Given the description of an element on the screen output the (x, y) to click on. 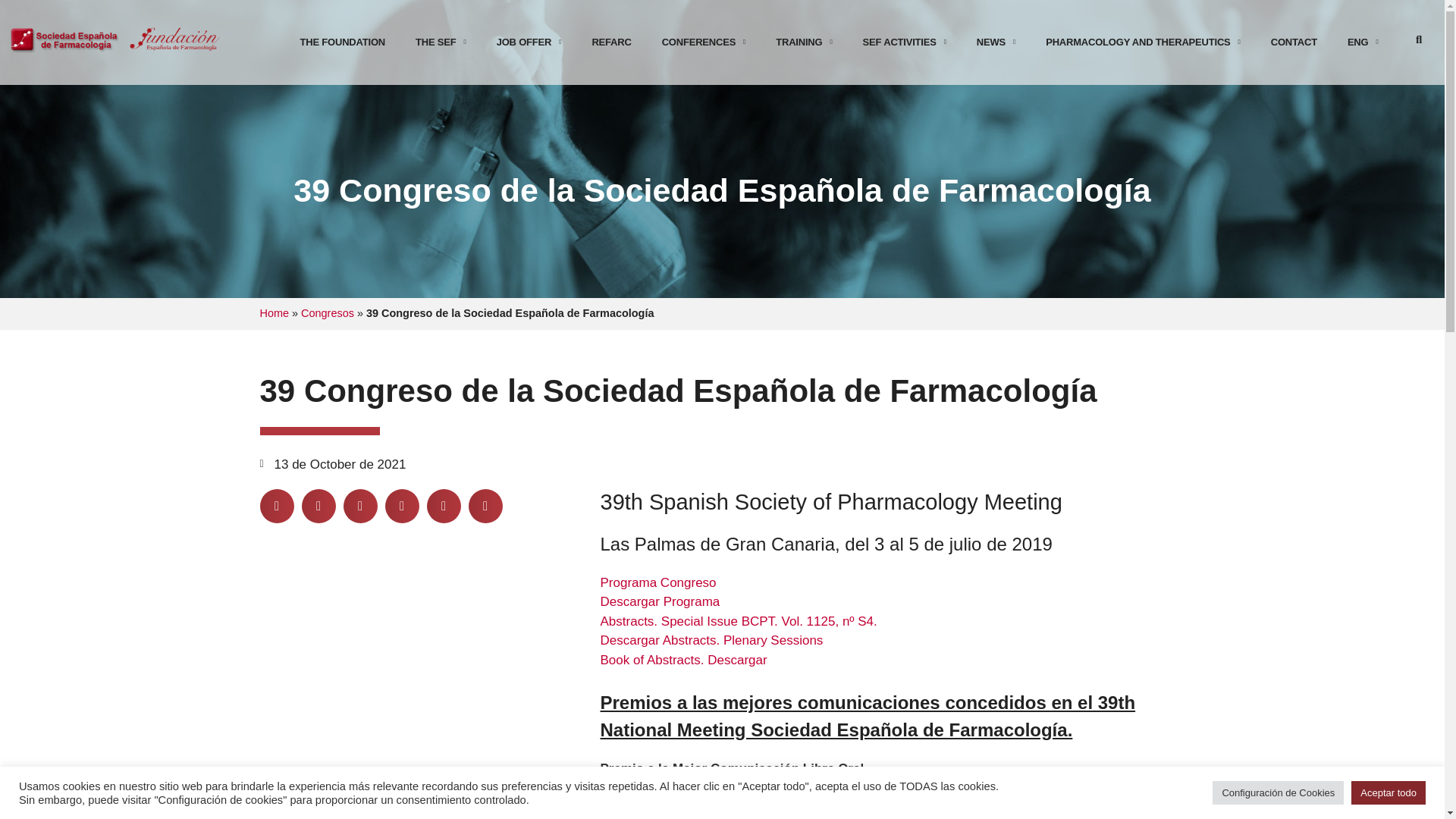
THE FOUNDATION (343, 41)
Eng (1362, 41)
CONFERENCES (703, 41)
SEF ACTIVITIES (903, 41)
JOB OFFER (528, 41)
TRAINING (803, 41)
REFARC (611, 41)
PHARMACOLOGY AND THERAPEUTICS (1142, 41)
NEWS (995, 41)
THE SEF (440, 41)
